Given the description of an element on the screen output the (x, y) to click on. 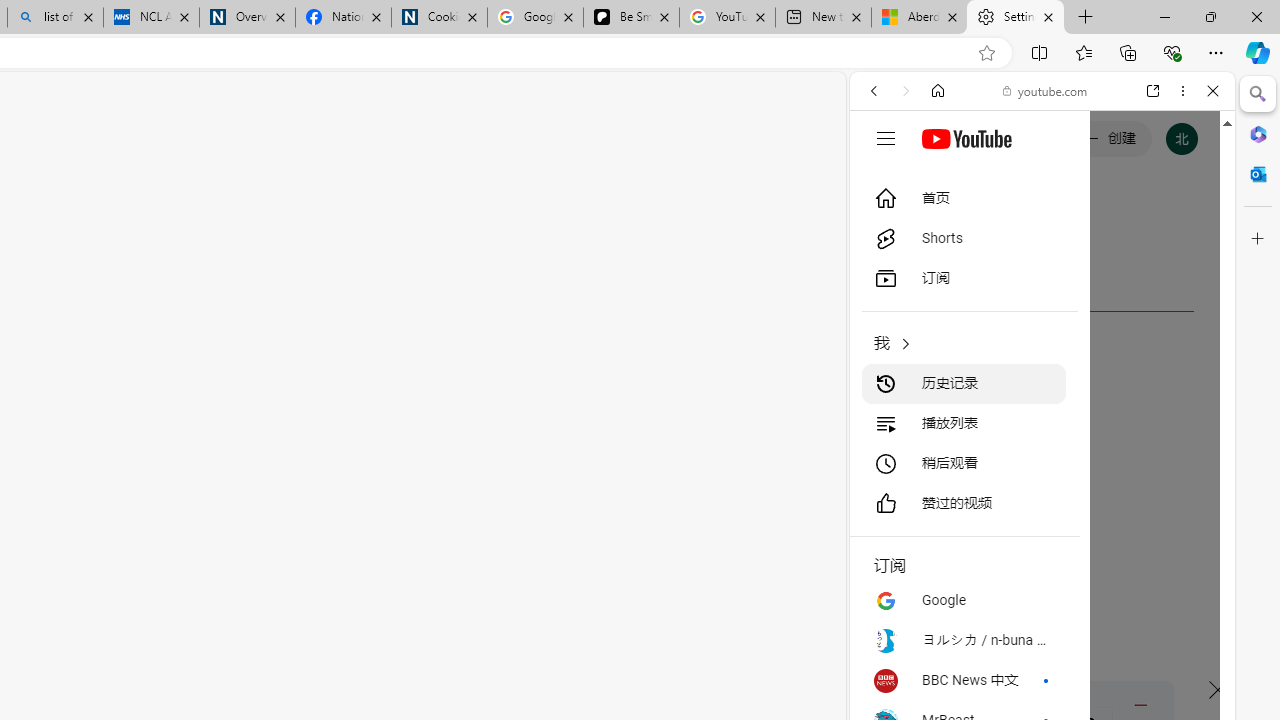
youtube.com (1046, 90)
Music (1042, 543)
Trailer #2 [HD] (1042, 594)
Aberdeen, Hong Kong SAR hourly forecast | Microsoft Weather (918, 17)
Search videos from youtube.com (1005, 657)
